Given the description of an element on the screen output the (x, y) to click on. 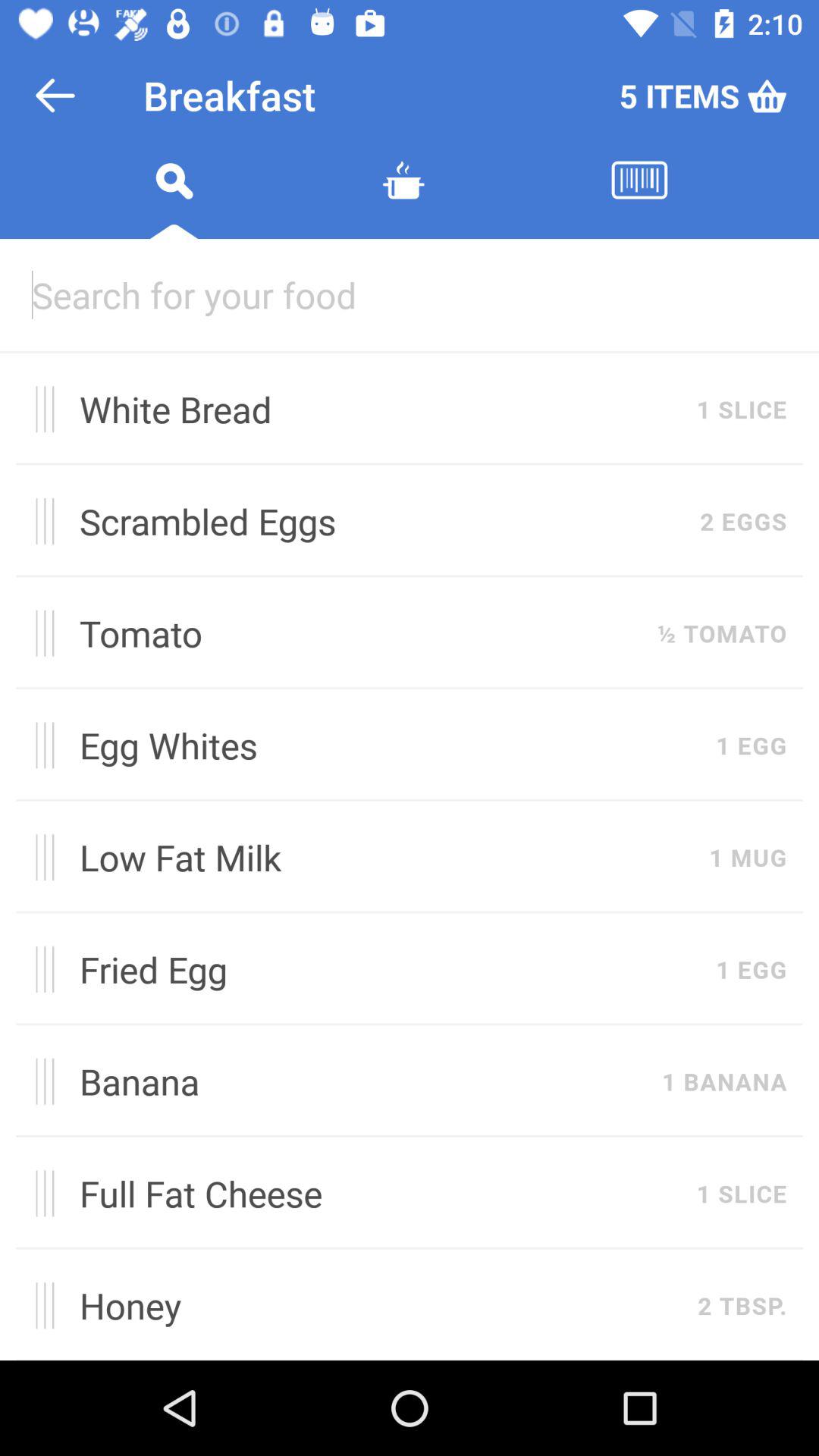
begin search (173, 198)
